Given the description of an element on the screen output the (x, y) to click on. 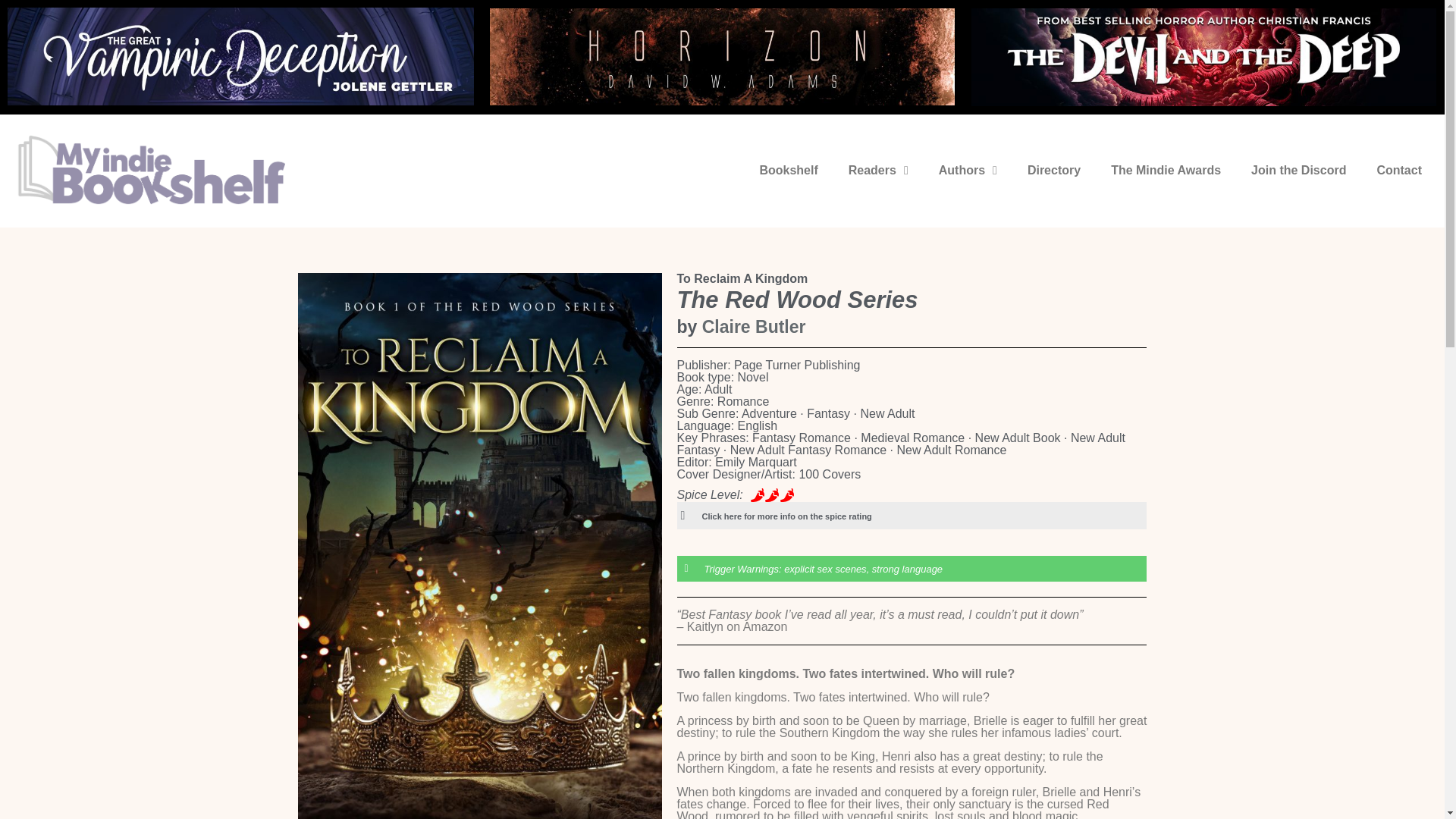
Readers (877, 170)
Click here for more info on the spice rating (786, 515)
The Mindie Awards (1166, 170)
Claire Butler (753, 326)
Contact (1399, 170)
Join the Discord (1298, 170)
Bookshelf (788, 170)
Directory (1053, 170)
Authors (967, 170)
